Given the description of an element on the screen output the (x, y) to click on. 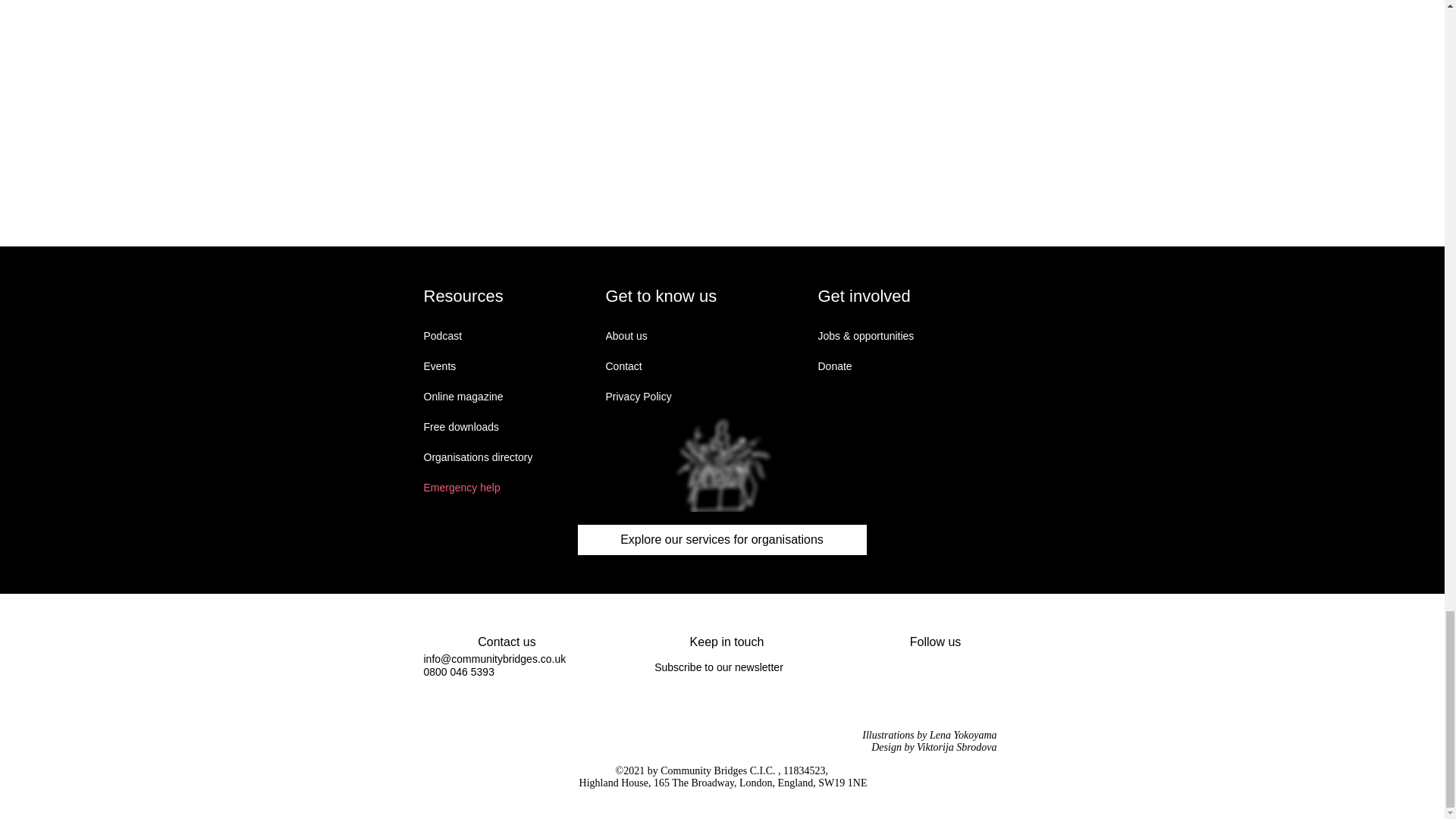
Podcast (477, 336)
